Given the description of an element on the screen output the (x, y) to click on. 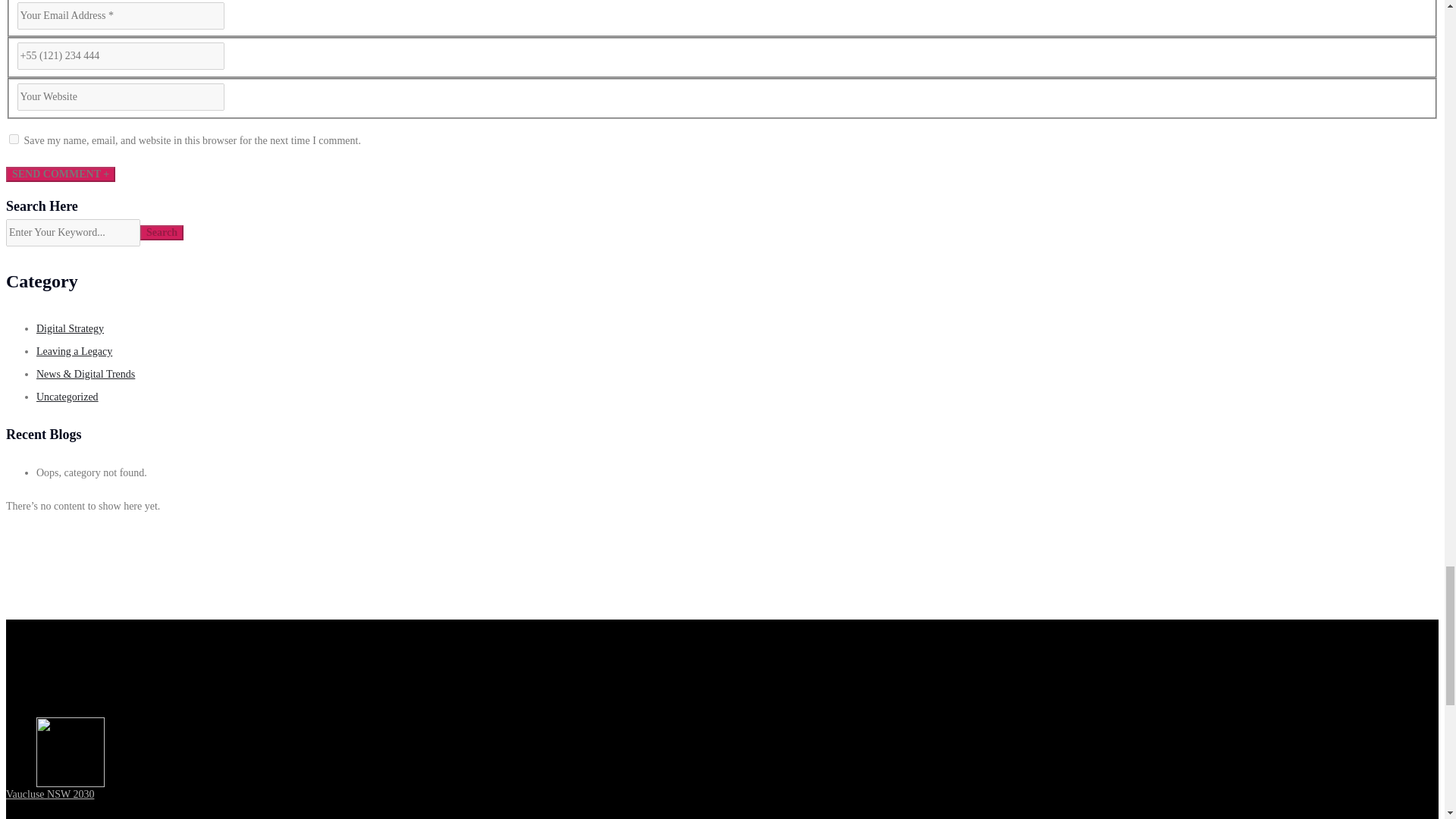
yes (13, 139)
